Given the description of an element on the screen output the (x, y) to click on. 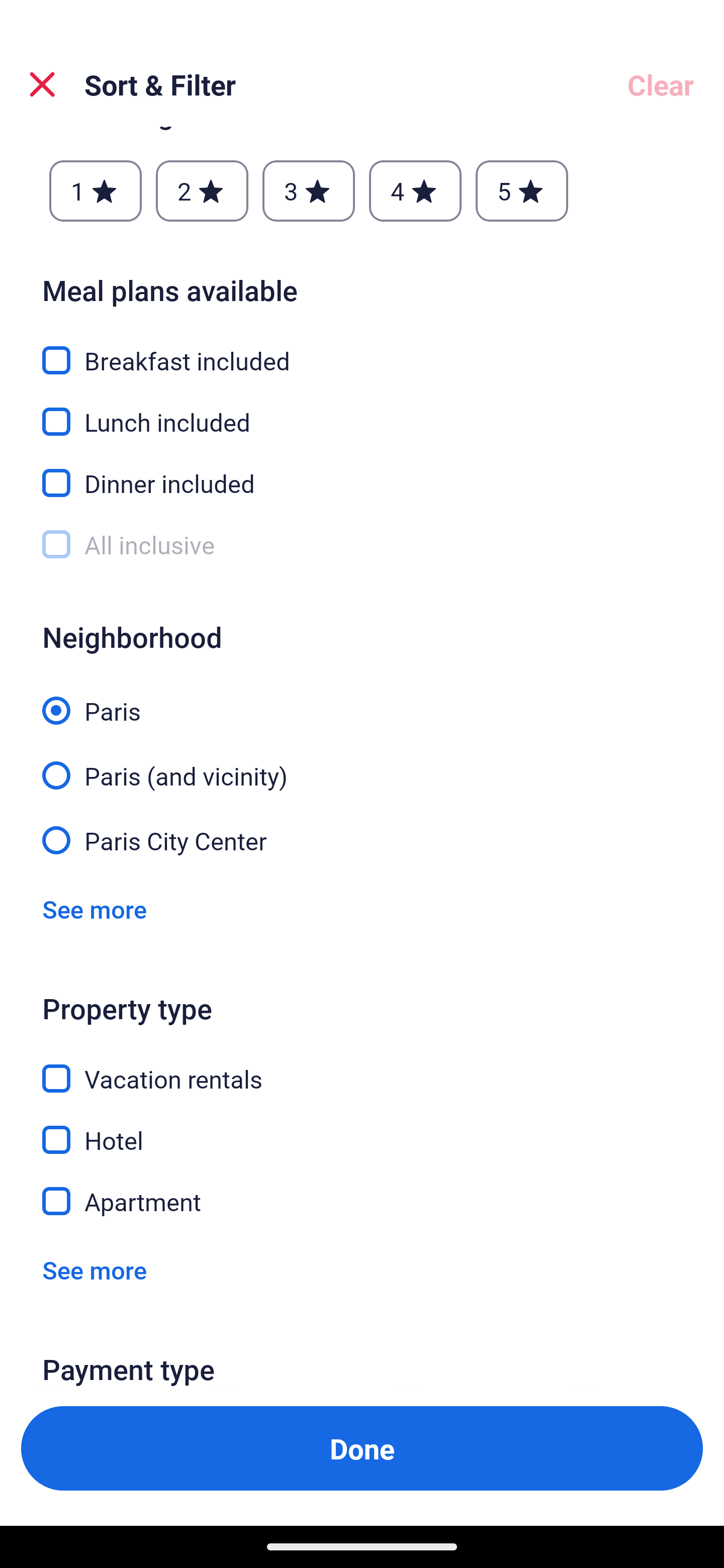
Close Sort and Filter (42, 84)
Clear (660, 84)
1 (95, 190)
2 (201, 190)
3 (308, 190)
4 (415, 190)
5 (521, 190)
Breakfast included, Breakfast included (361, 348)
Lunch included, Lunch included (361, 409)
Dinner included, Dinner included (361, 471)
All inclusive, All inclusive (361, 544)
Paris (and vicinity) (361, 764)
Paris City Center (361, 838)
See more See more neighborhoods Link (93, 909)
Vacation rentals, Vacation rentals (361, 1066)
Hotel, Hotel (361, 1127)
Apartment, Apartment (361, 1200)
See more See more property types Link (93, 1269)
Apply and close Sort and Filter Done (361, 1448)
